Given the description of an element on the screen output the (x, y) to click on. 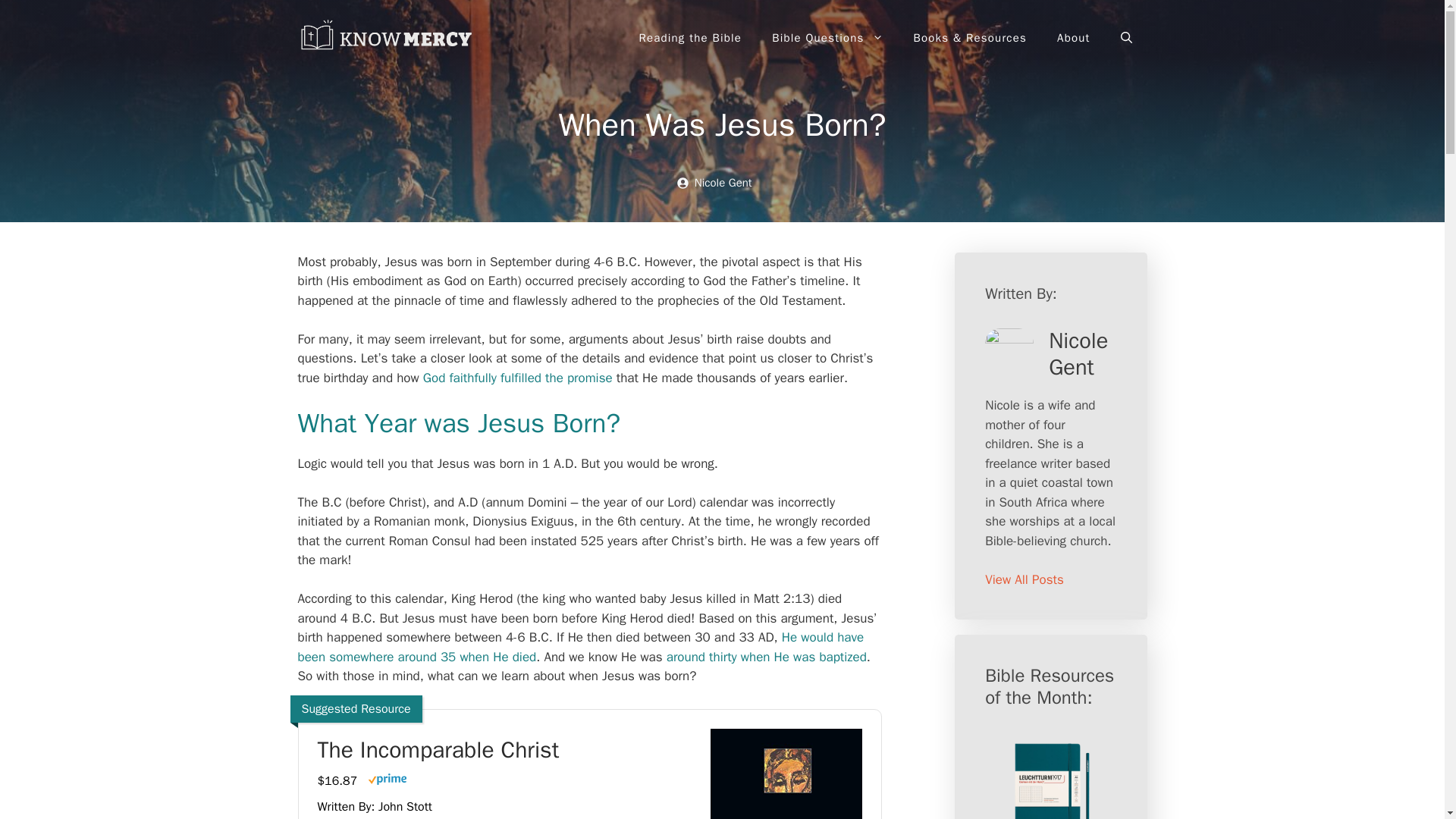
Bible Questions (827, 37)
Understanding the Bible (388, 37)
Understanding the Bible (388, 36)
God faithfully fulfilled the promise (517, 377)
around thirty when He was baptized (766, 657)
About (1073, 37)
Reading the Bible (690, 37)
The Incomparable Christ (502, 750)
The Incomparable Christ (502, 750)
He would have been somewhere around 35 when He died (580, 647)
